Given the description of an element on the screen output the (x, y) to click on. 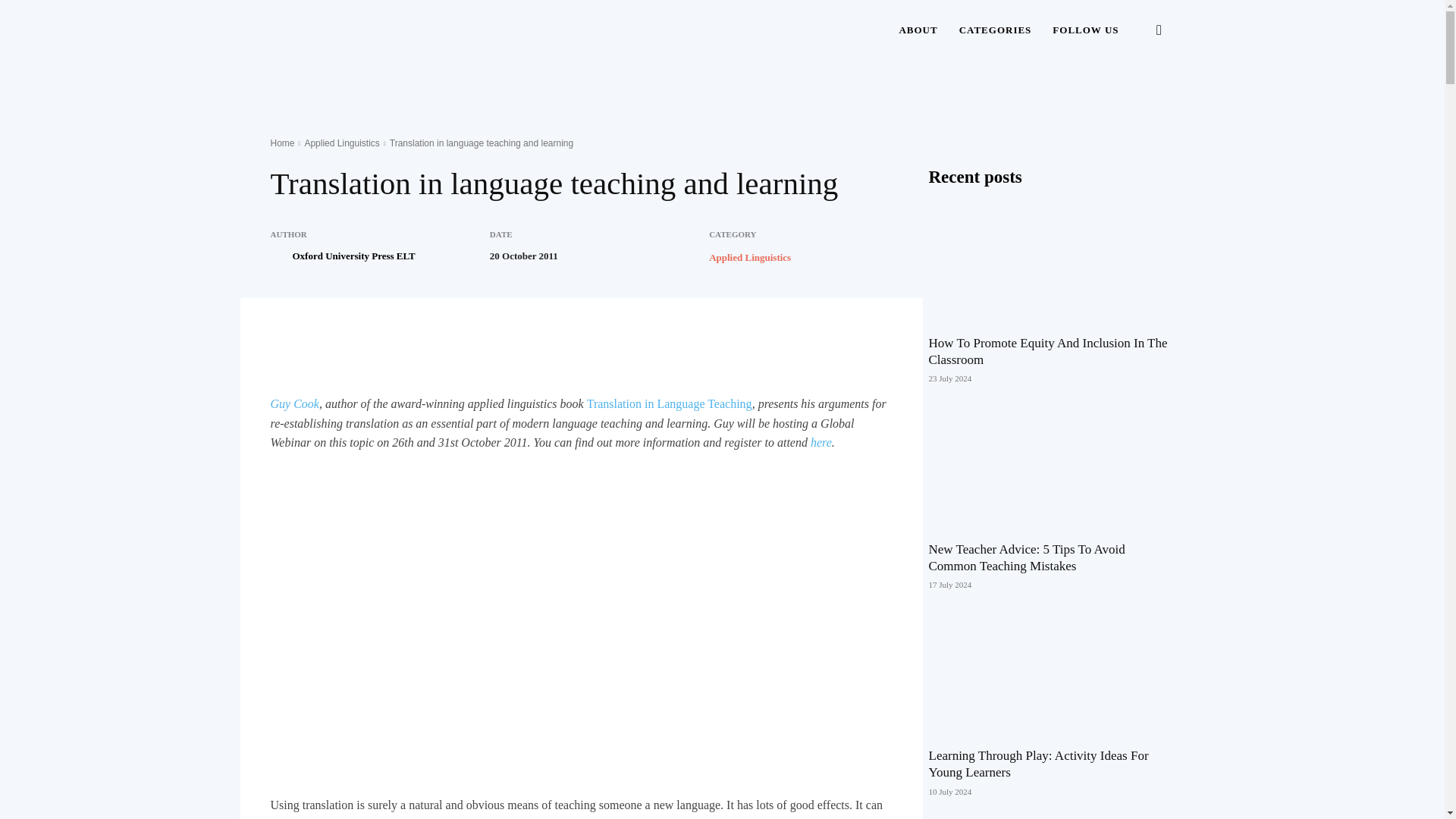
CATEGORIES (995, 30)
Guy Cook (293, 403)
ABOUT (917, 30)
Search (1134, 102)
Oxford University Press ELT (353, 255)
Home (281, 143)
here (820, 441)
Applied Linguistics (341, 143)
View all posts in Applied Linguistics (341, 143)
Translation in Language Teaching (669, 403)
Oxford University Press ELT (279, 255)
Applied Linguistics (749, 257)
FOLLOW US (1085, 30)
